Given the description of an element on the screen output the (x, y) to click on. 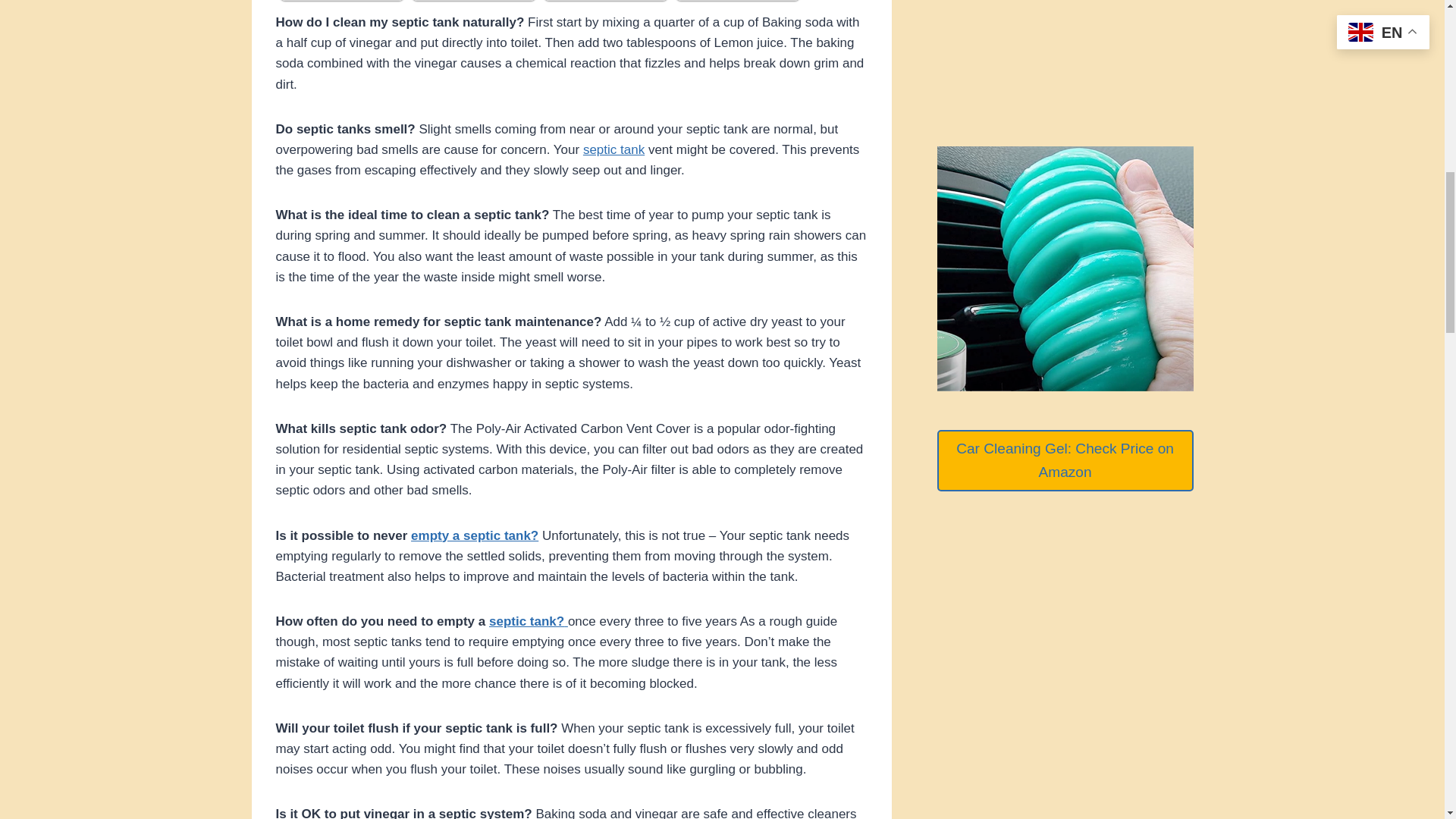
Advertisement (1065, 15)
